Given the description of an element on the screen output the (x, y) to click on. 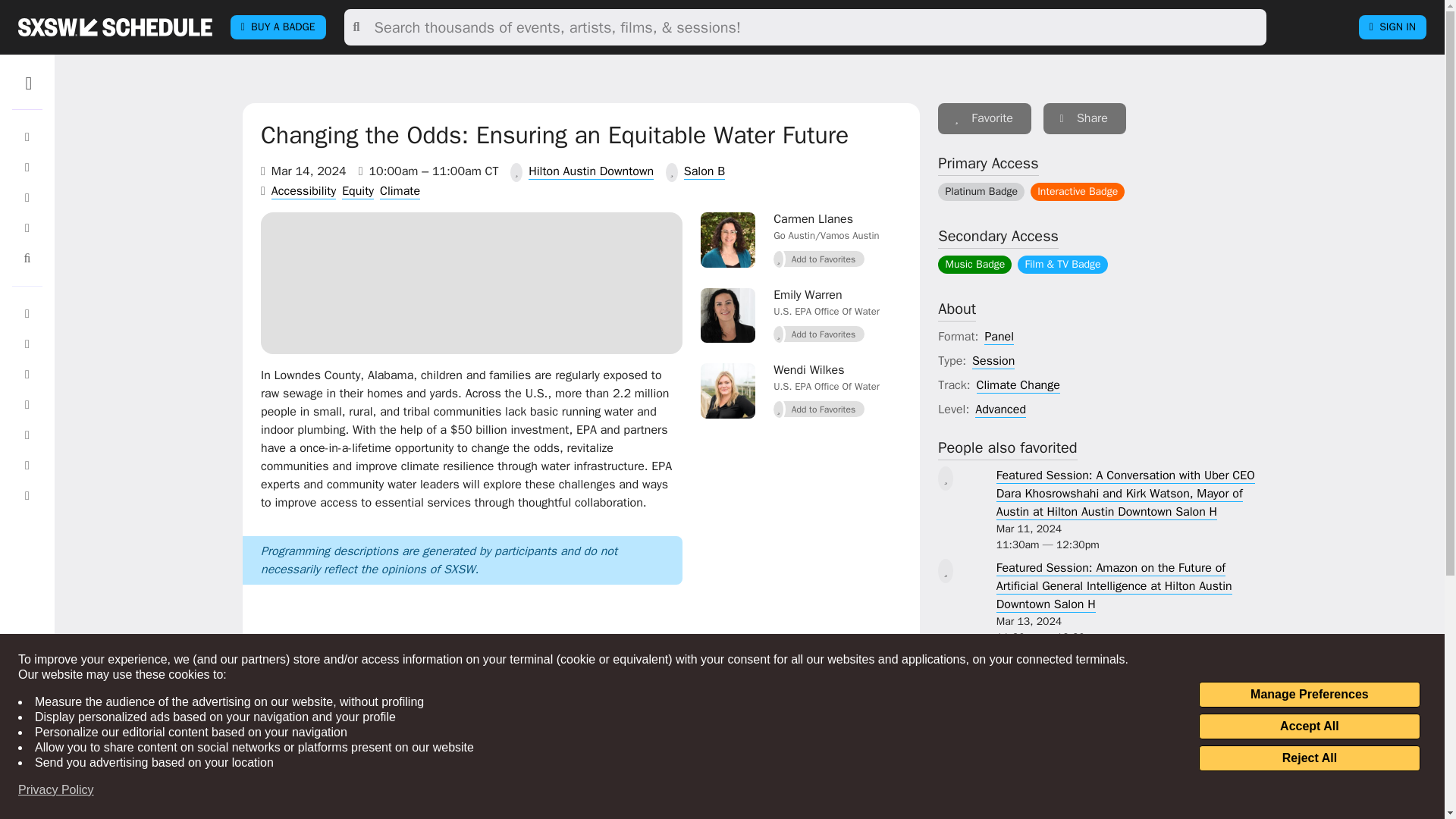
Privacy Policy (55, 789)
Hilton Austin Downtown (590, 171)
sxsw SCHEDULE (114, 27)
Accept All (1309, 726)
SIGN IN (1392, 27)
Sign In to add to your favorites. (818, 259)
Manage Preferences (1309, 694)
Reject All (1309, 758)
Sign In to add to your favorites. (818, 333)
BUY A BADGE (278, 27)
